Given the description of an element on the screen output the (x, y) to click on. 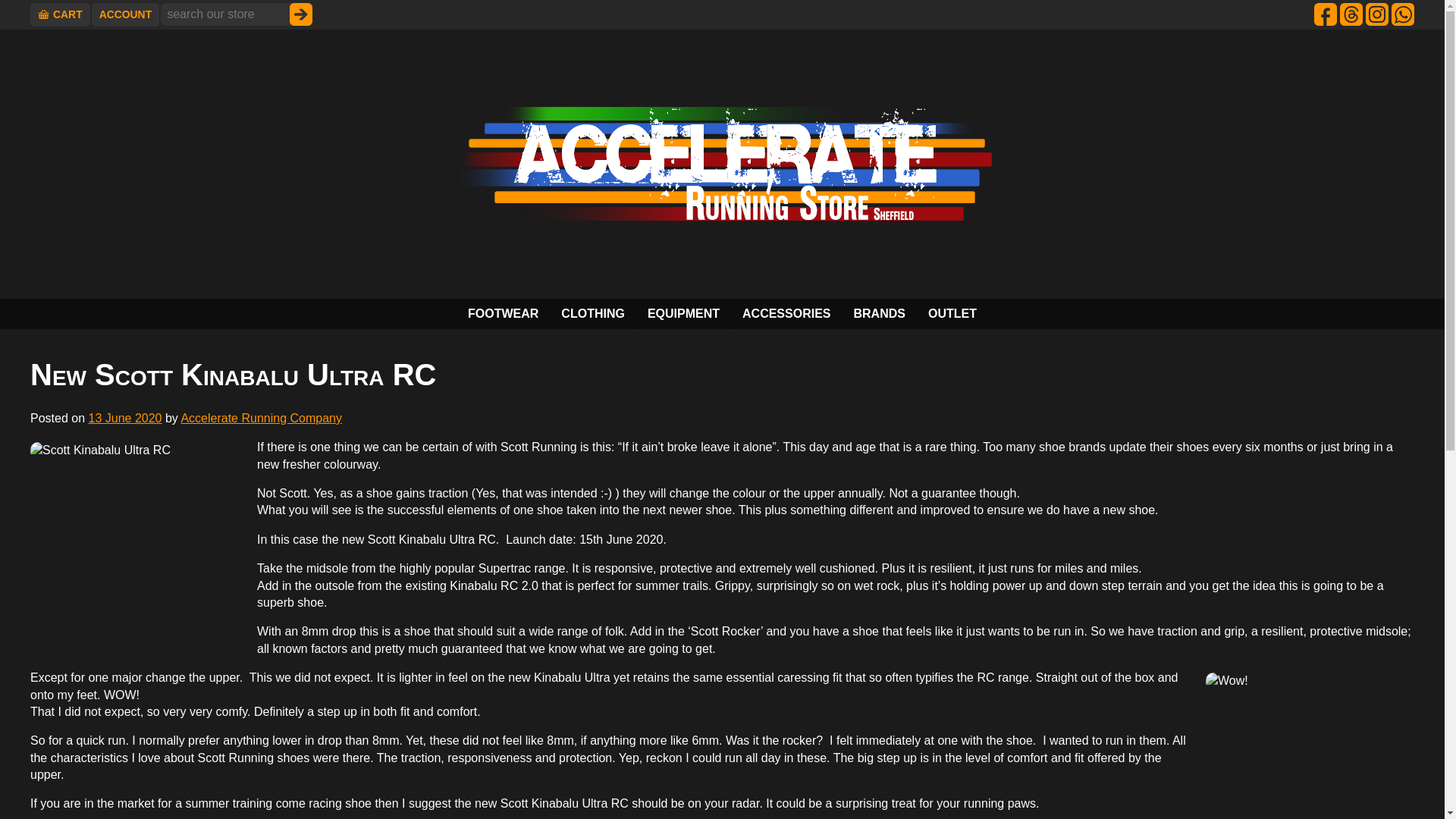
FOOTWEAR (503, 313)
11:46 pm (124, 418)
CLOTHING (593, 313)
Like us on Facebook (1325, 14)
OUTLET (952, 313)
Instagram (1377, 14)
ACCOUNT (125, 14)
Follow us on Threads (1350, 14)
BRANDS (878, 313)
ACCESSORIES (785, 313)
Follow us on What's App (1402, 14)
EQUIPMENT (683, 313)
CART (60, 14)
13 June 2020 (124, 418)
Facebook (1325, 14)
